Given the description of an element on the screen output the (x, y) to click on. 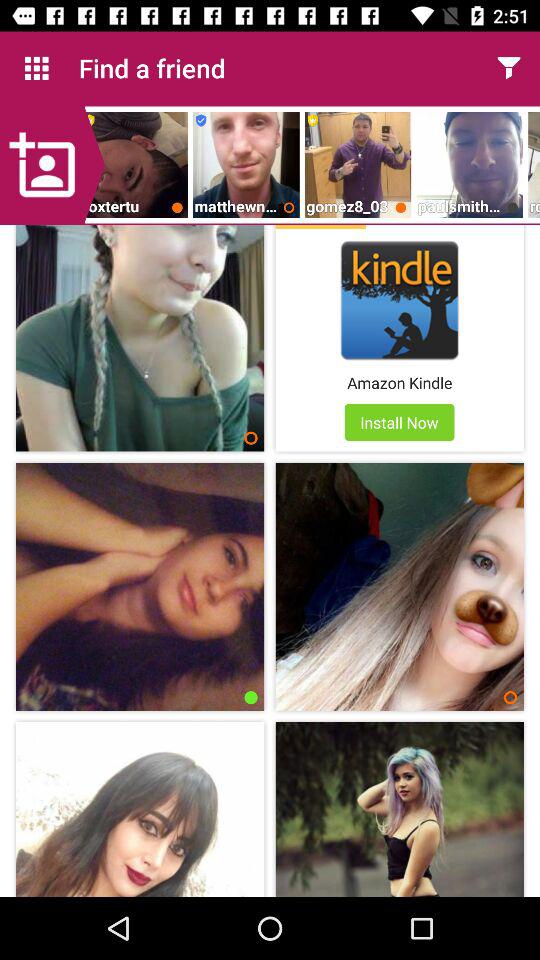
click on the right bottom corner from first image in the first row (251, 438)
select the second image circle button which is on right side of  the second vertical (509, 697)
select the image before kindle (140, 338)
click the second row first image (140, 586)
select the image below the install now (399, 586)
